Given the description of an element on the screen output the (x, y) to click on. 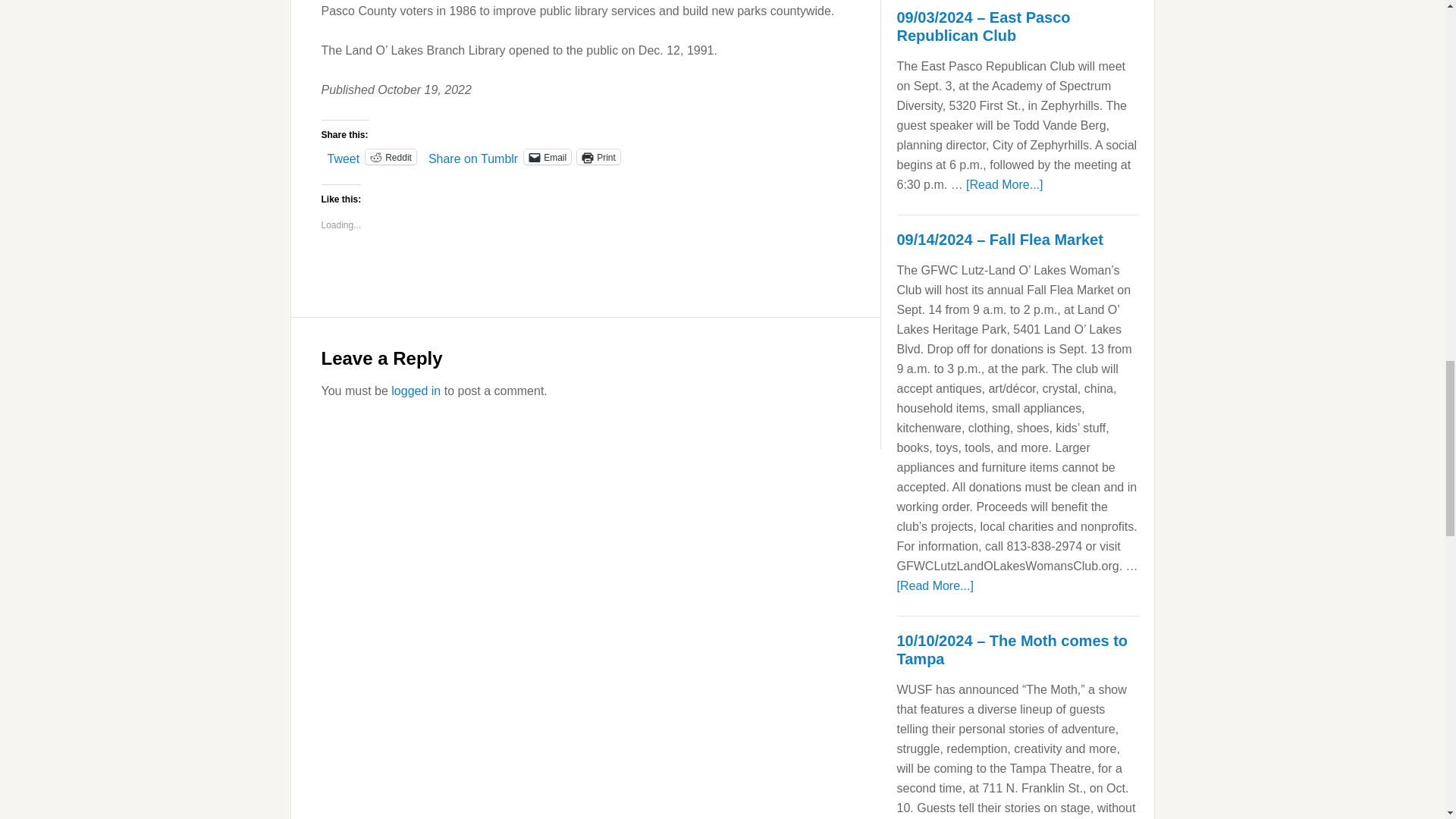
Click to share on Reddit (390, 156)
Share on Tumblr (473, 155)
Click to email a link to a friend (547, 156)
Click to print (598, 156)
